Given the description of an element on the screen output the (x, y) to click on. 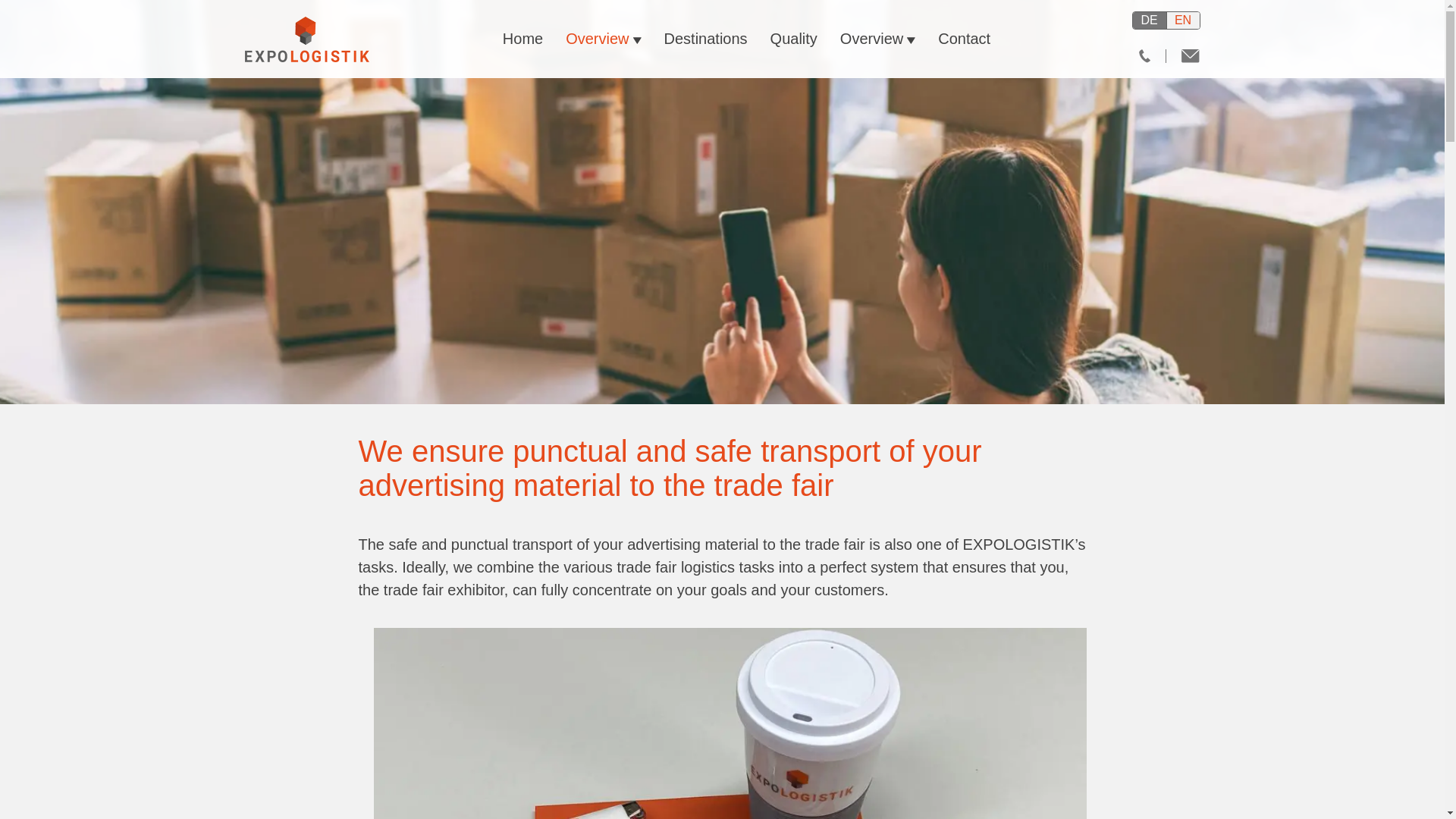
EN (1182, 20)
Destinations (706, 38)
Quality (794, 38)
DE (1149, 20)
Overview (603, 38)
Contact (964, 38)
Overview (876, 38)
Home (523, 38)
